Given the description of an element on the screen output the (x, y) to click on. 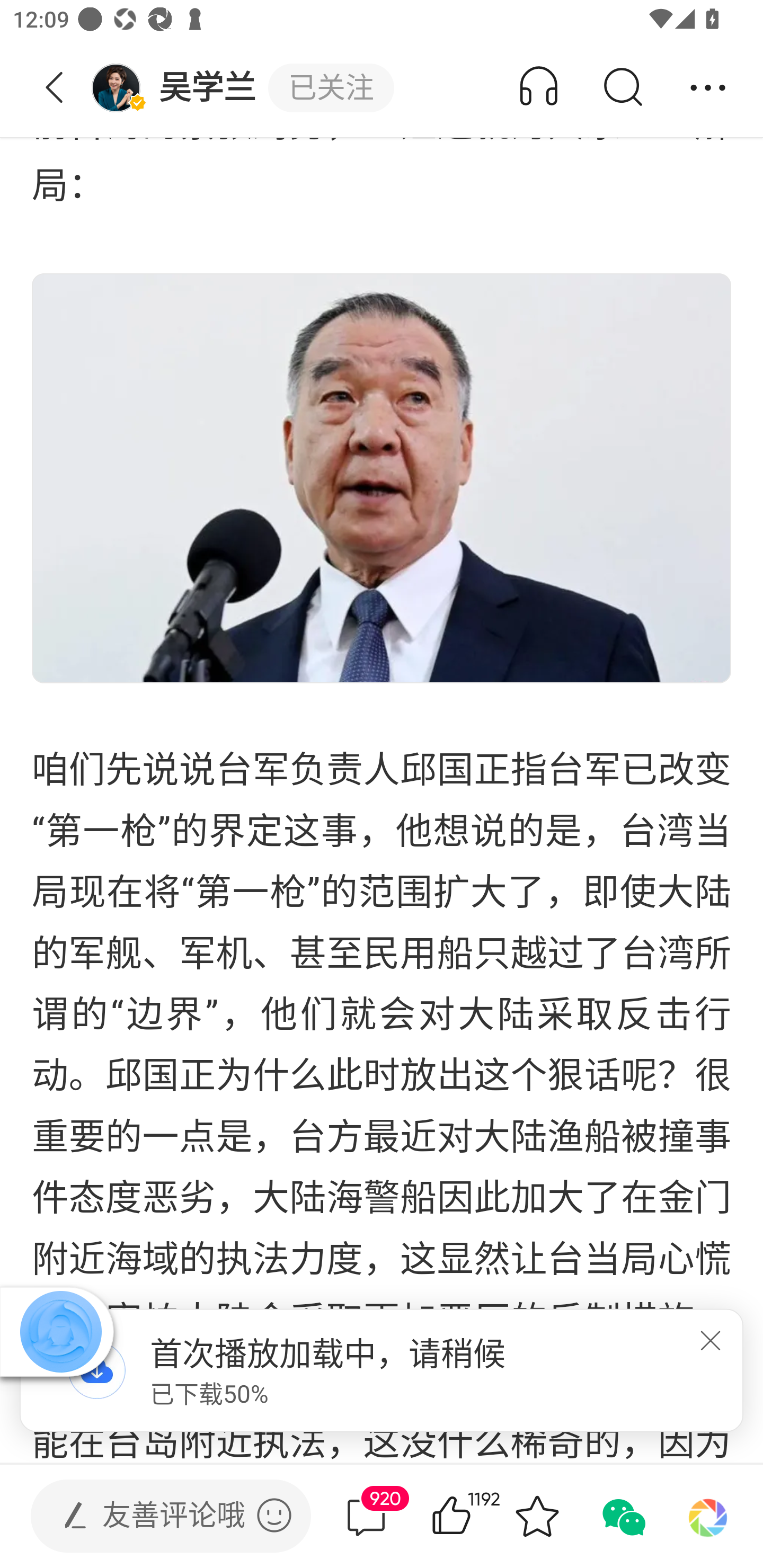
吴学兰 (179, 87)
搜索  (622, 87)
分享  (707, 87)
 返回 (54, 87)
已关注 (330, 88)
新闻图片 (381, 477)
播放器 (60, 1331)
 (708, 1338)
发表评论  友善评论哦 发表评论  (155, 1516)
920评论  920 评论 (365, 1516)
1192赞 (476, 1516)
收藏  (536, 1516)
分享到微信  (622, 1516)
分享到朋友圈 (707, 1516)
 (274, 1515)
